Given the description of an element on the screen output the (x, y) to click on. 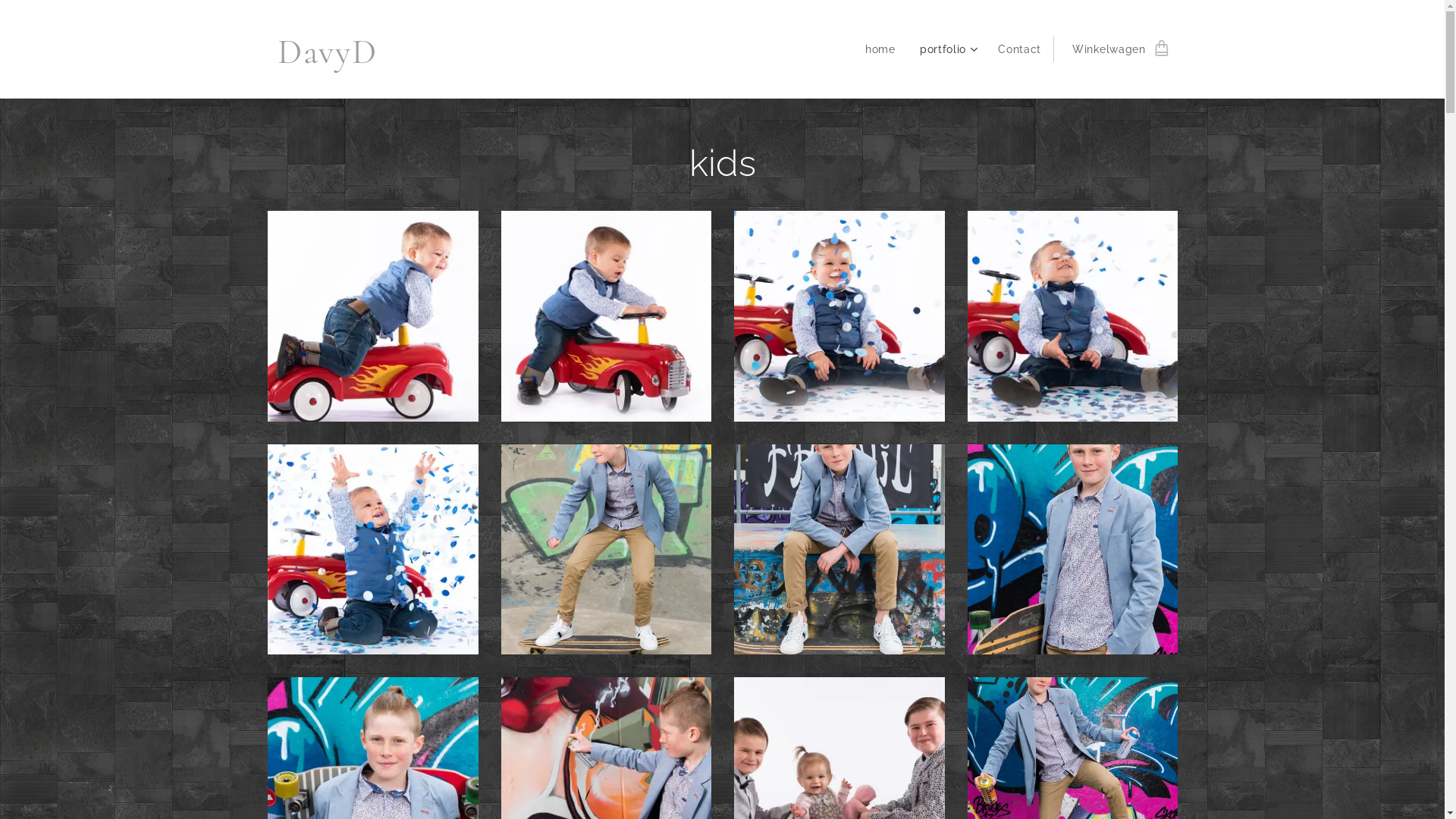
Winkelwagen Element type: text (1114, 49)
home Element type: text (884, 49)
 DavyD Element type: text (321, 48)
portfolio Element type: text (946, 49)
Contact Element type: text (1019, 49)
